Given the description of an element on the screen output the (x, y) to click on. 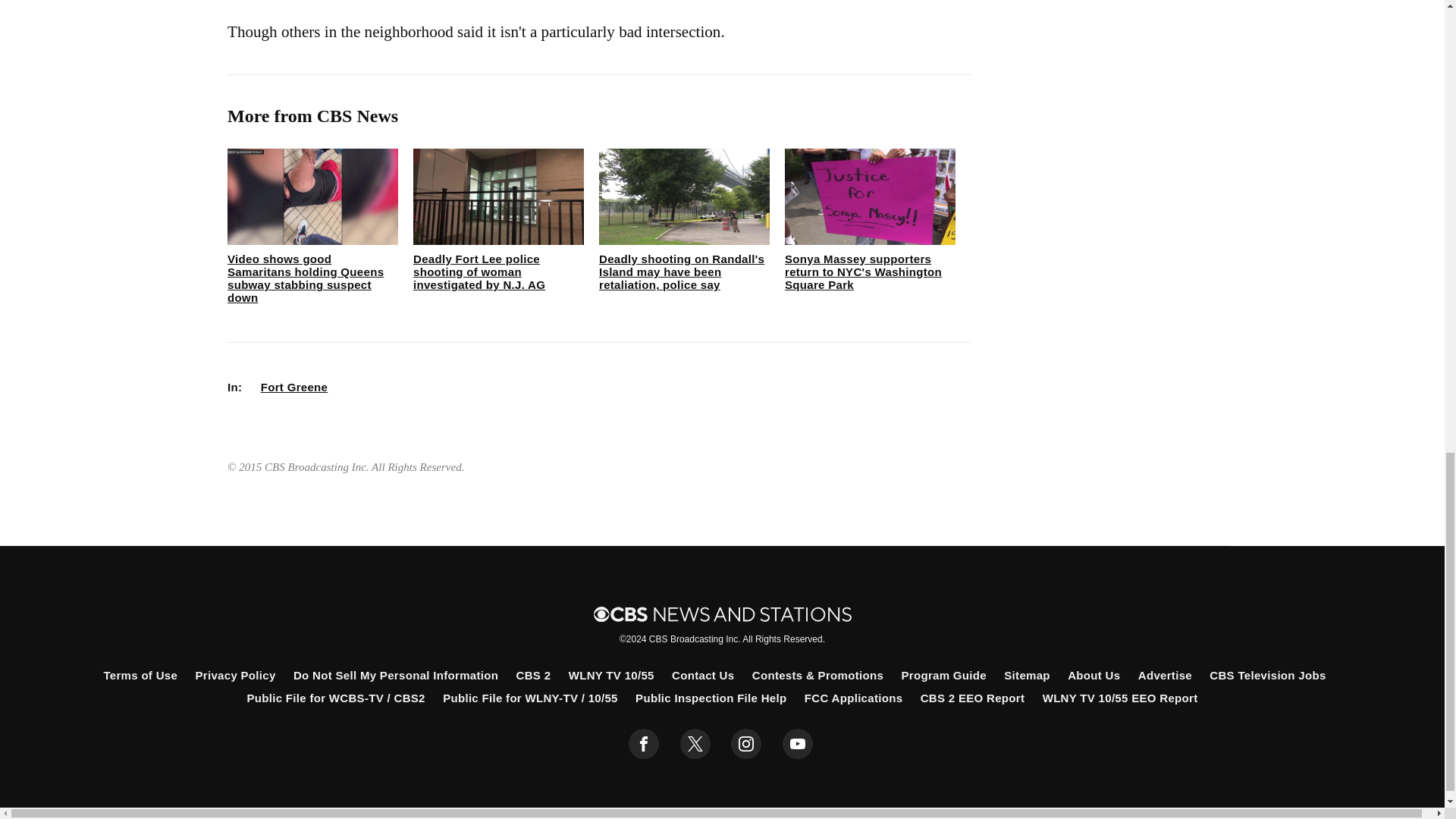
instagram (745, 743)
facebook (643, 743)
youtube (797, 743)
twitter (694, 743)
